Given the description of an element on the screen output the (x, y) to click on. 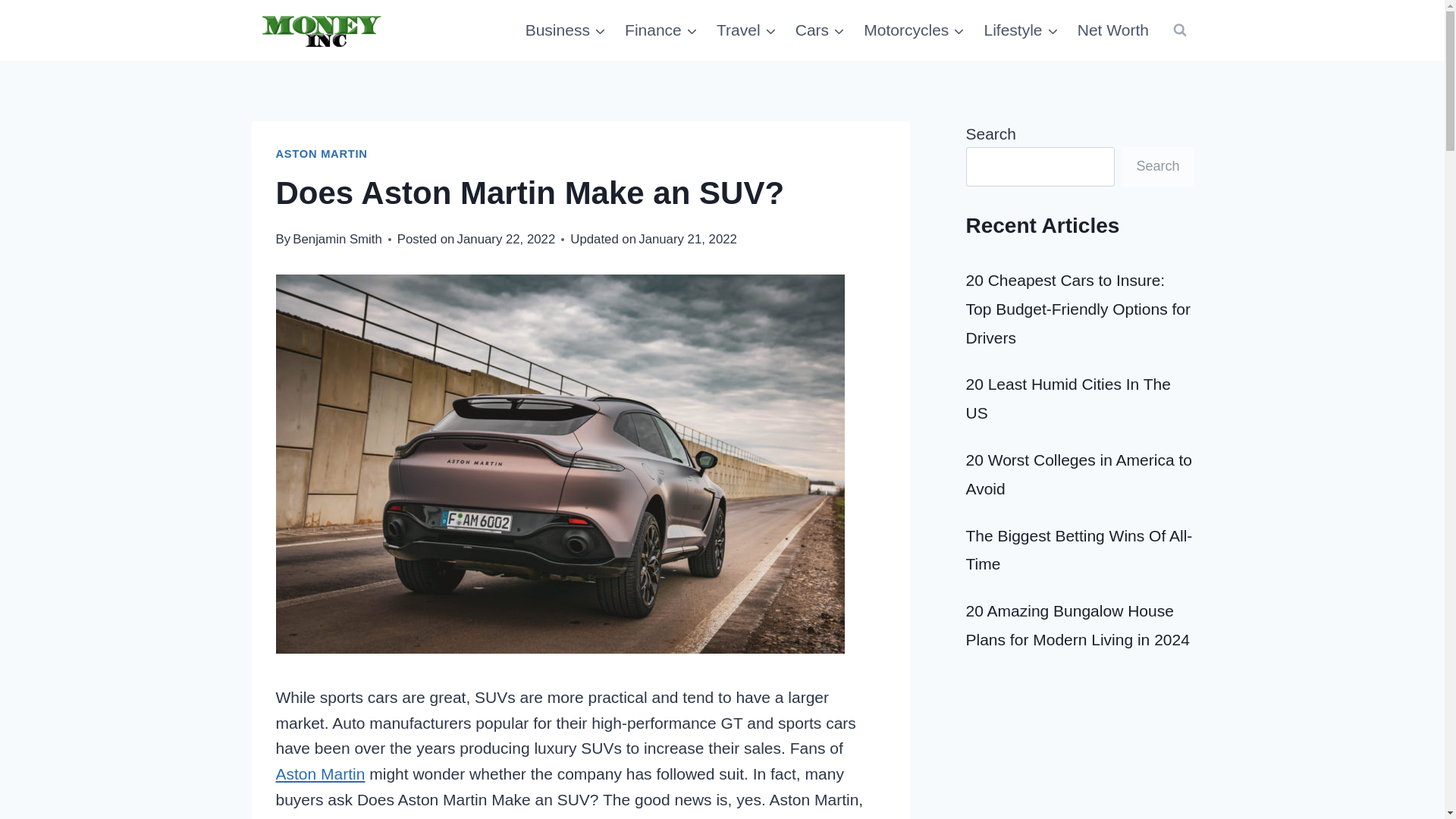
Travel (746, 30)
Cars (820, 30)
Finance (661, 30)
Business (564, 30)
